Given the description of an element on the screen output the (x, y) to click on. 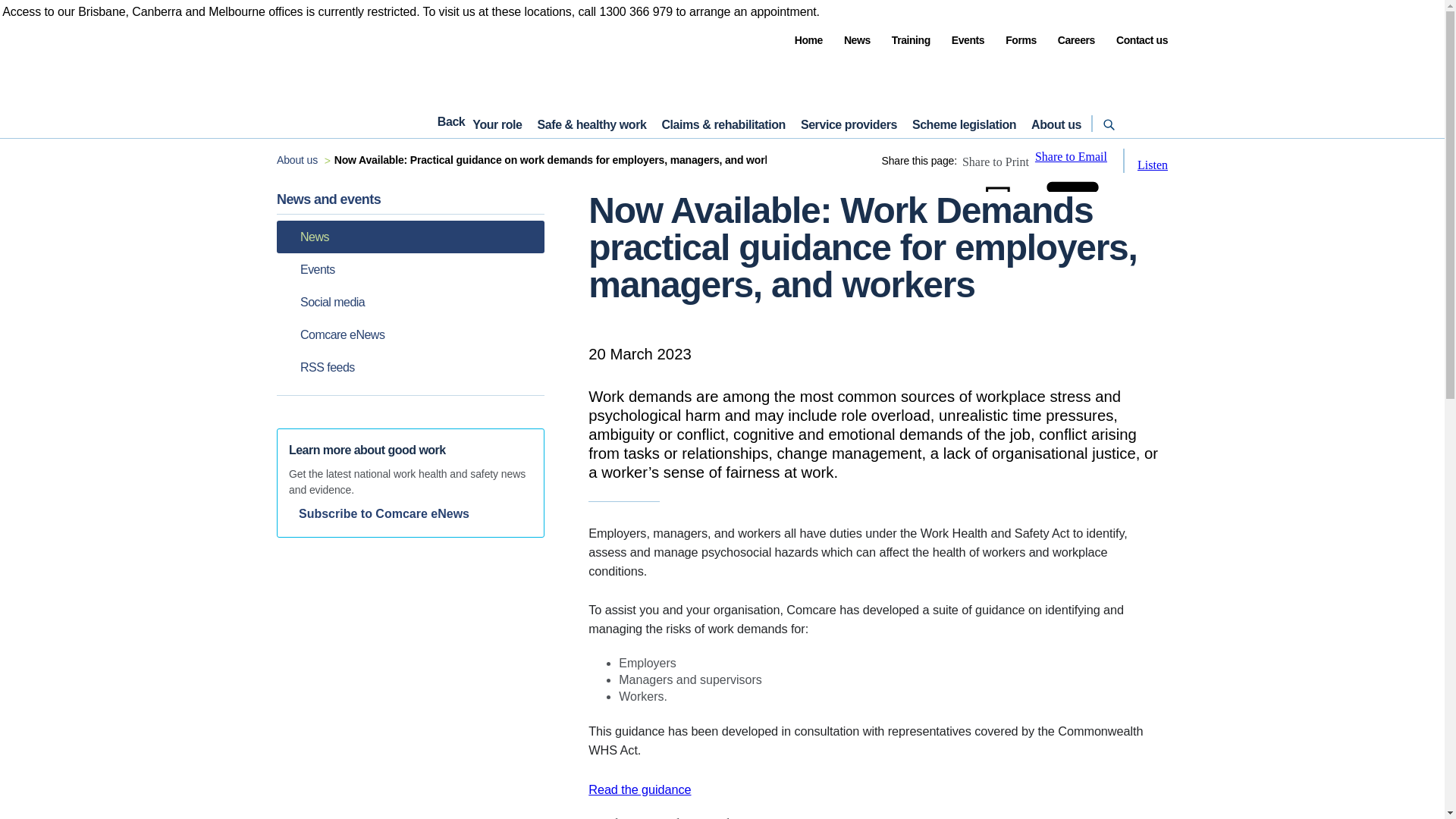
Service providers (848, 124)
Email (1072, 202)
Your role (496, 124)
Print (997, 205)
Listen to this page using ReadSpeaker (1152, 164)
